Given the description of an element on the screen output the (x, y) to click on. 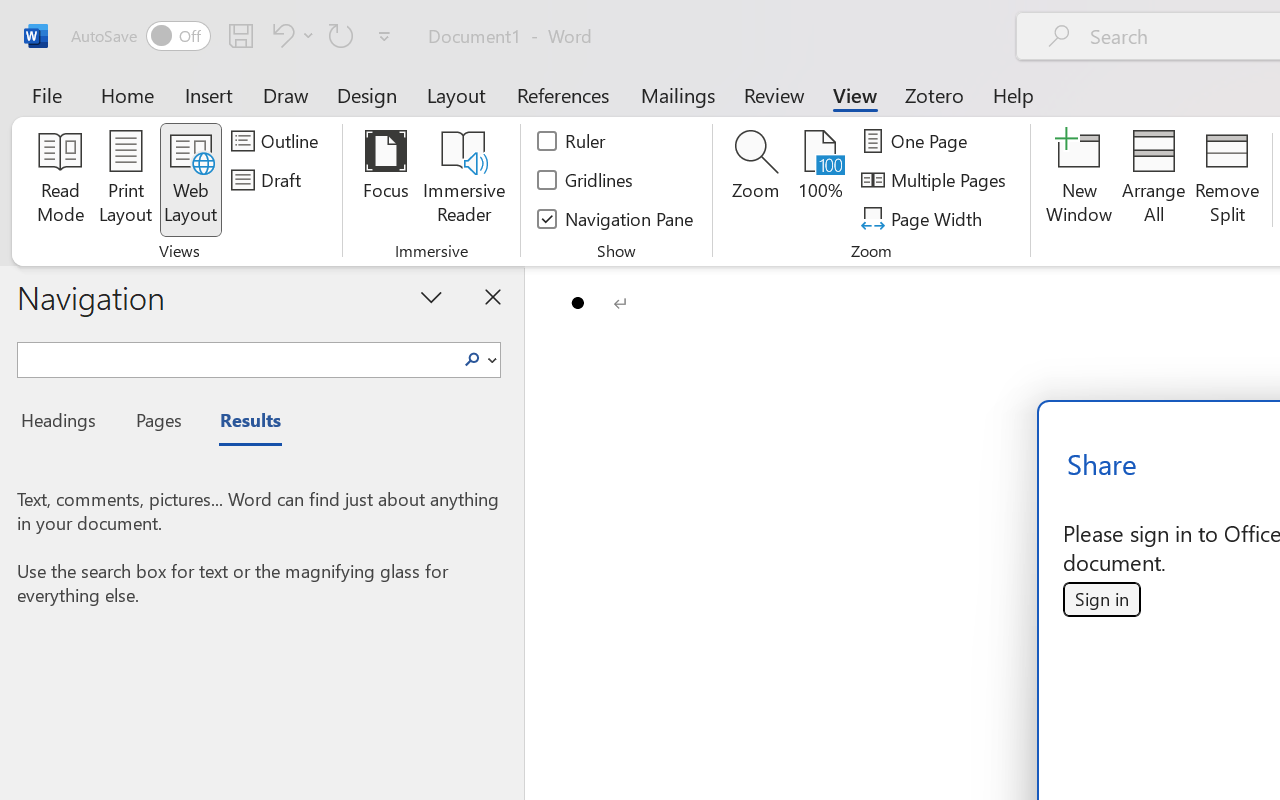
Zoom... (755, 179)
Undo Bullet Default (290, 35)
